Given the description of an element on the screen output the (x, y) to click on. 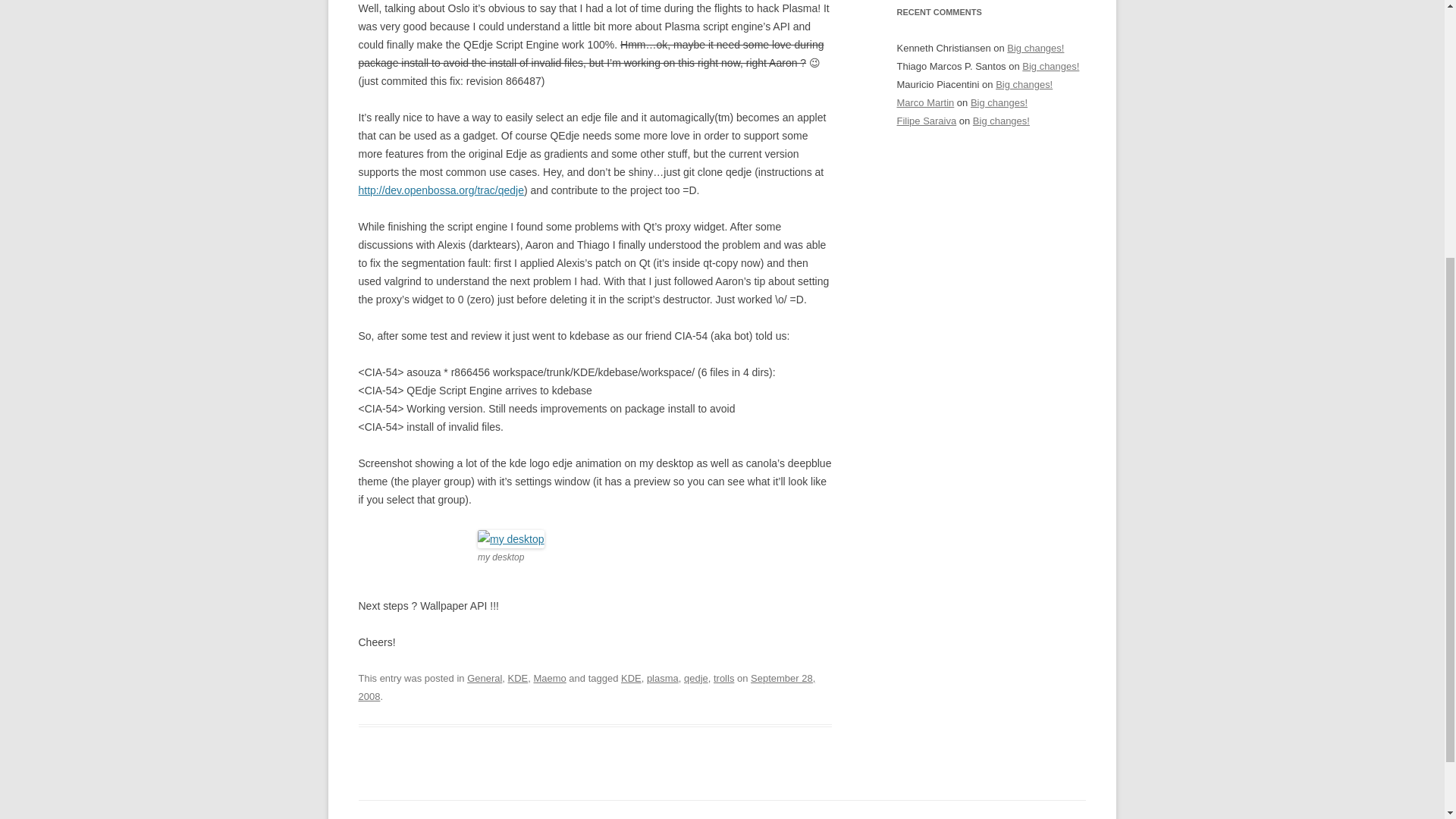
Marco Martin (924, 102)
Maemo (549, 677)
9:47 pm (586, 686)
plasma (662, 677)
KDE (518, 677)
trolls (723, 677)
Big changes! (1050, 66)
Big changes! (999, 102)
qedje (695, 677)
Big changes! (1023, 84)
